Given the description of an element on the screen output the (x, y) to click on. 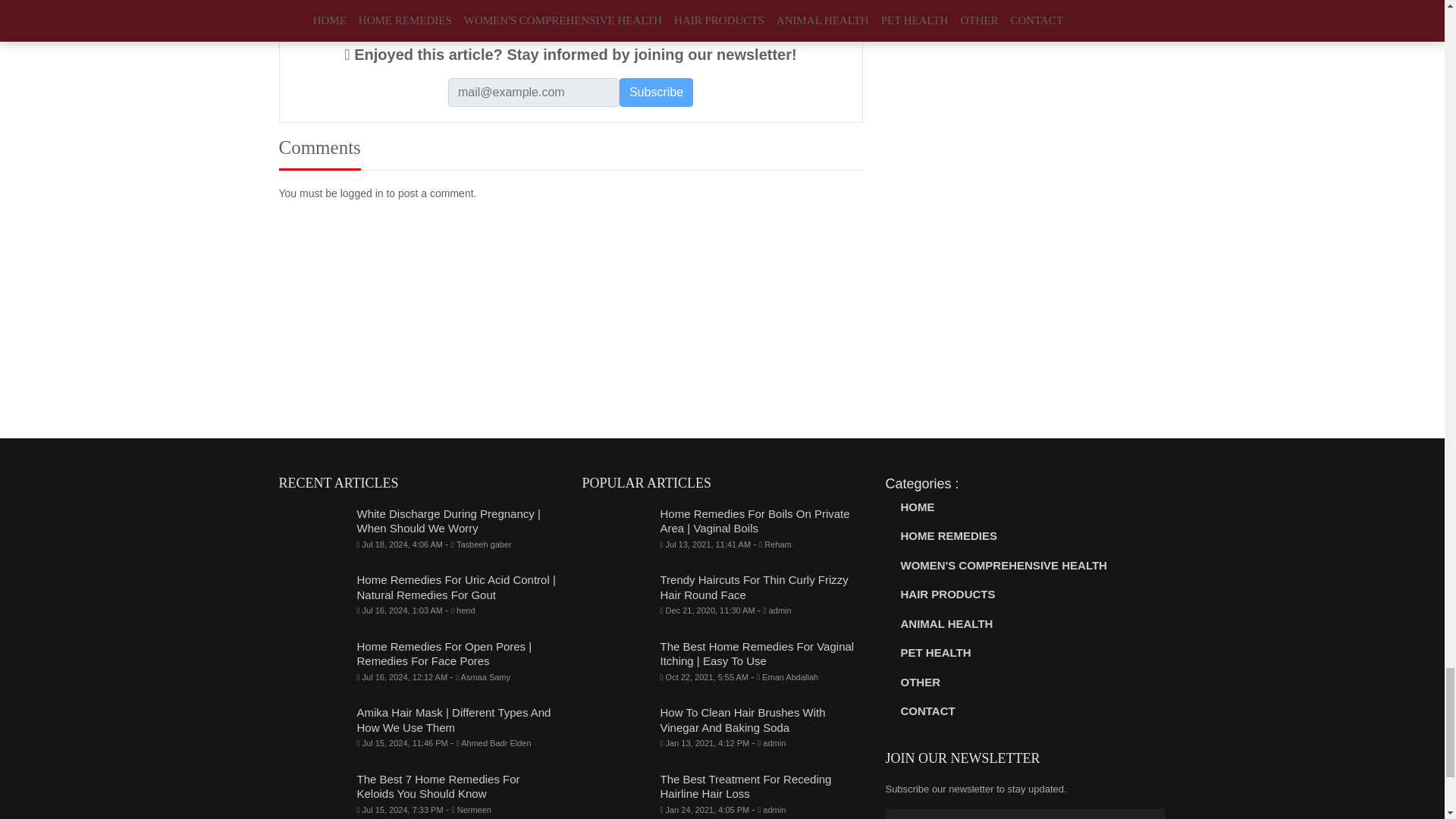
Facebook (311, 6)
via email (666, 6)
Linkedin (440, 6)
Subscribe (656, 92)
Twitter (377, 6)
